Given the description of an element on the screen output the (x, y) to click on. 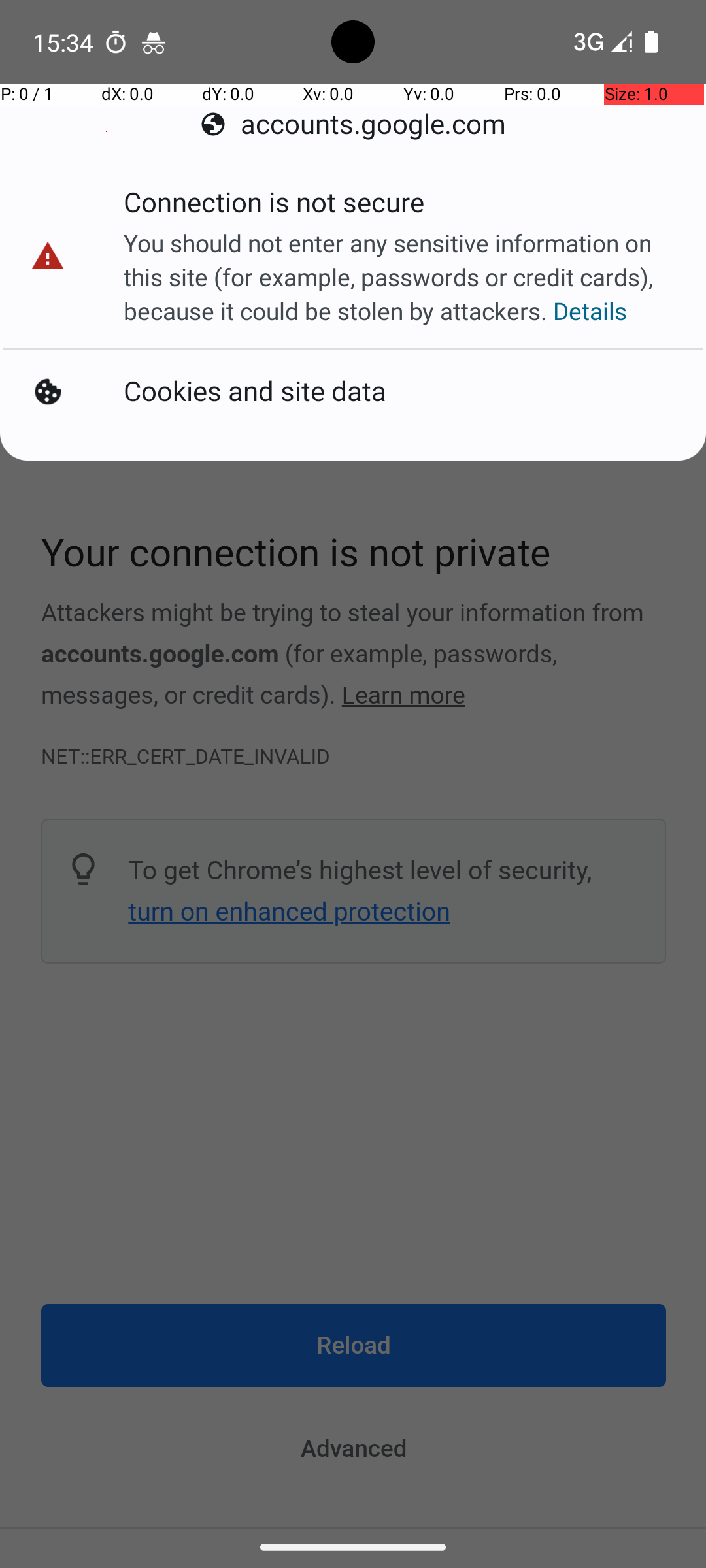
accounts.google.com Element type: android.widget.TextView (352, 124)
